Given the description of an element on the screen output the (x, y) to click on. 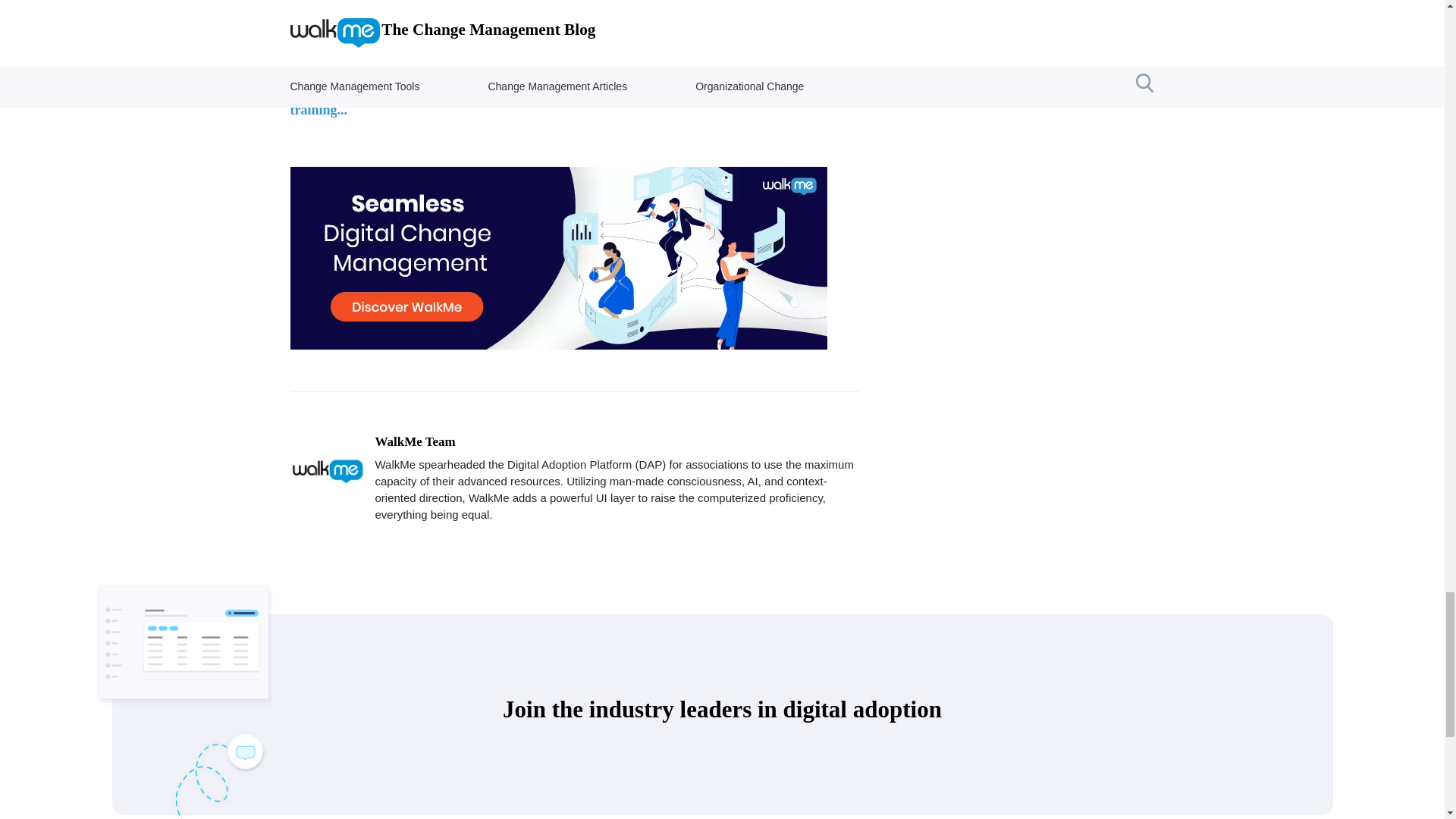
Change Management (630, 52)
What is cultural change? (658, 87)
Workplace diversity training: Effective training... (402, 98)
WalkMe Team (414, 441)
Change Management (334, 52)
Posts by WalkMe Team (414, 441)
What is cultural change? (658, 87)
